Given the description of an element on the screen output the (x, y) to click on. 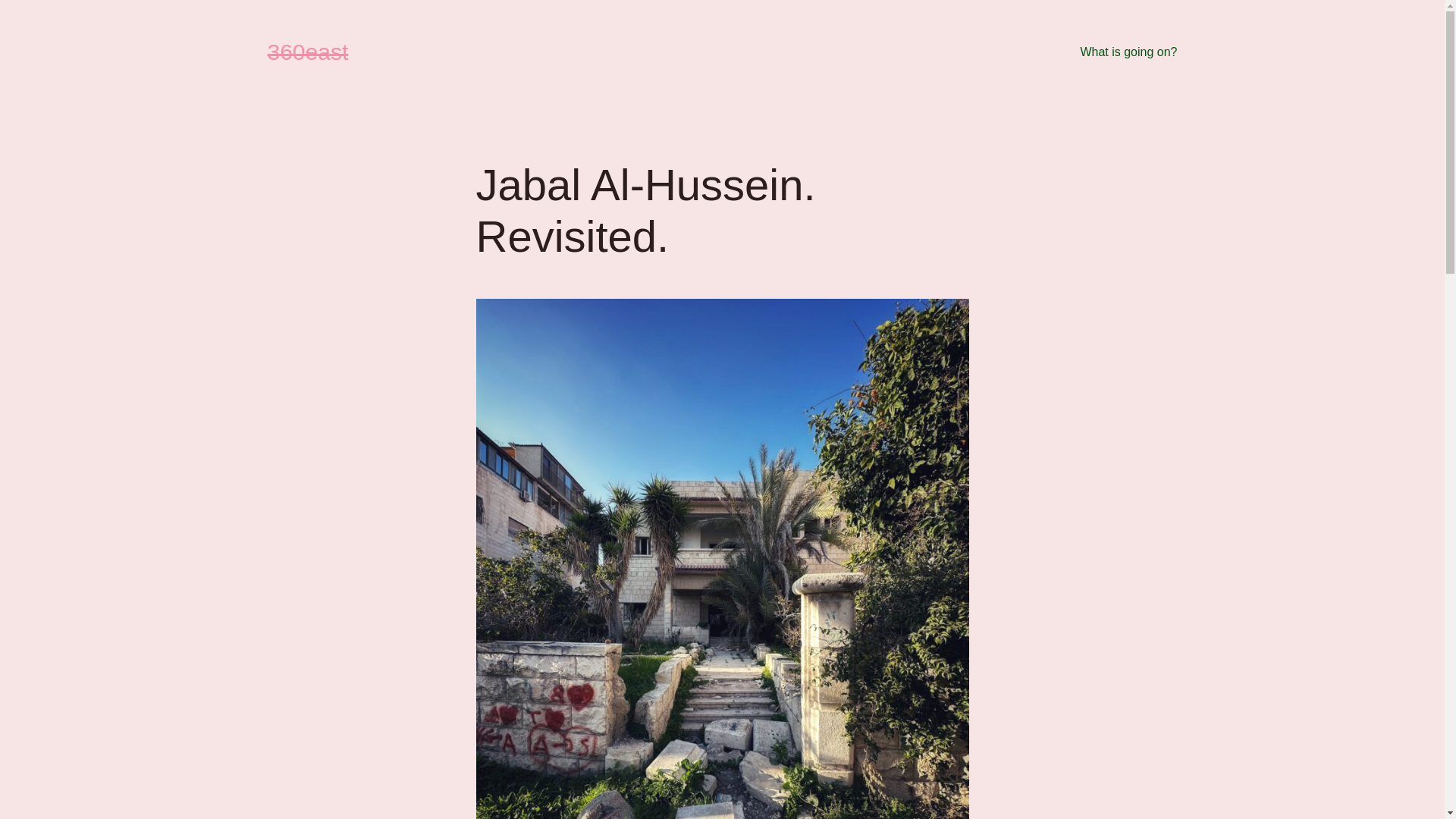
What is going on? Element type: text (1127, 52)
360east Element type: text (307, 51)
Jabal Al-Hussein. Revisited. Element type: text (722, 210)
